Given the description of an element on the screen output the (x, y) to click on. 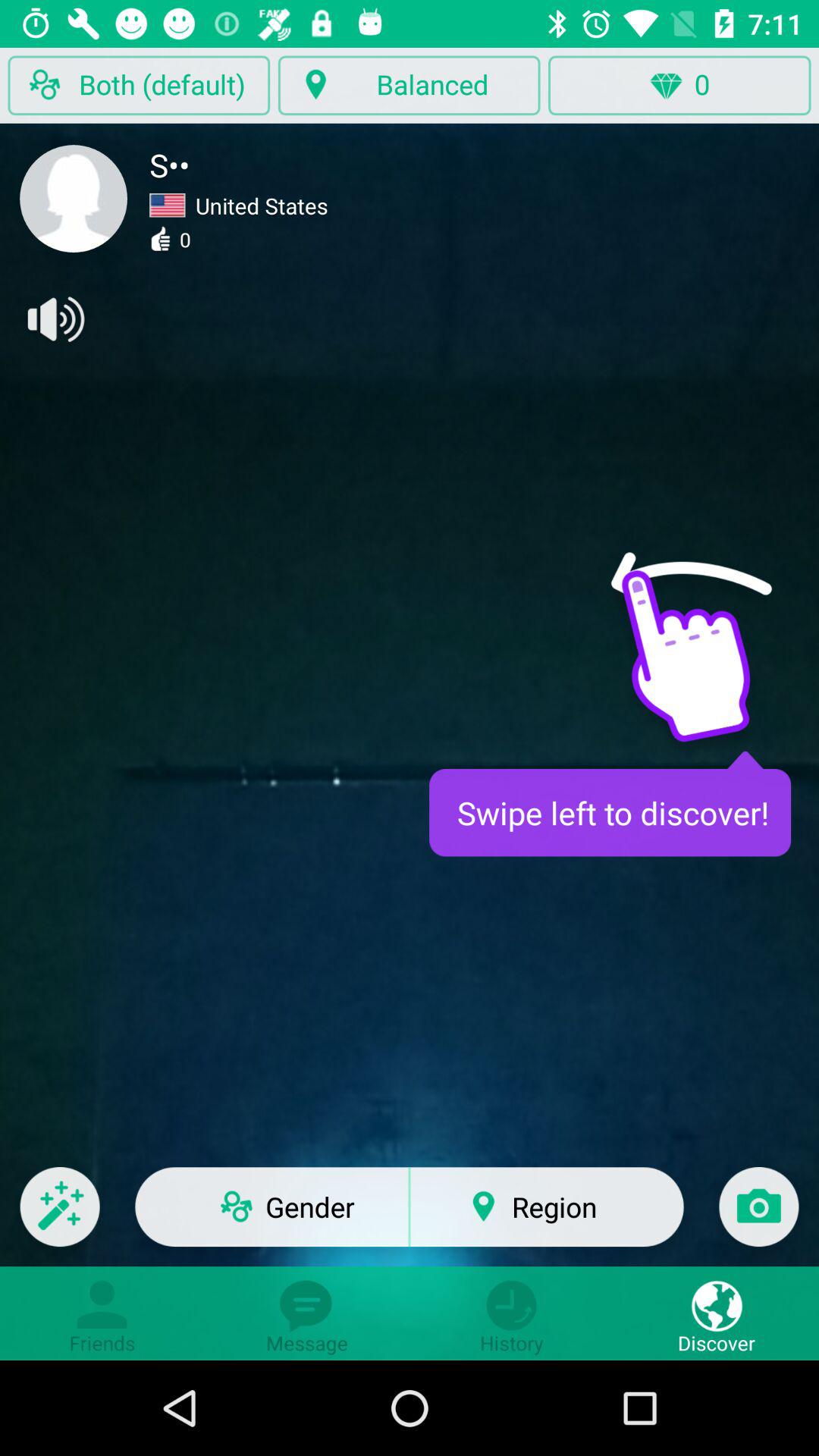
press item next to region item (758, 1216)
